Given the description of an element on the screen output the (x, y) to click on. 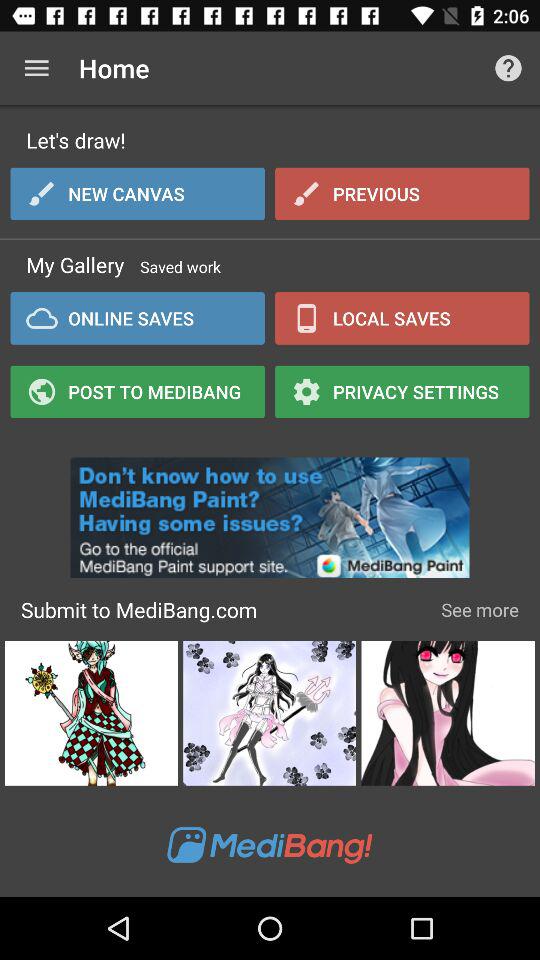
select drawing to submit (447, 713)
